Given the description of an element on the screen output the (x, y) to click on. 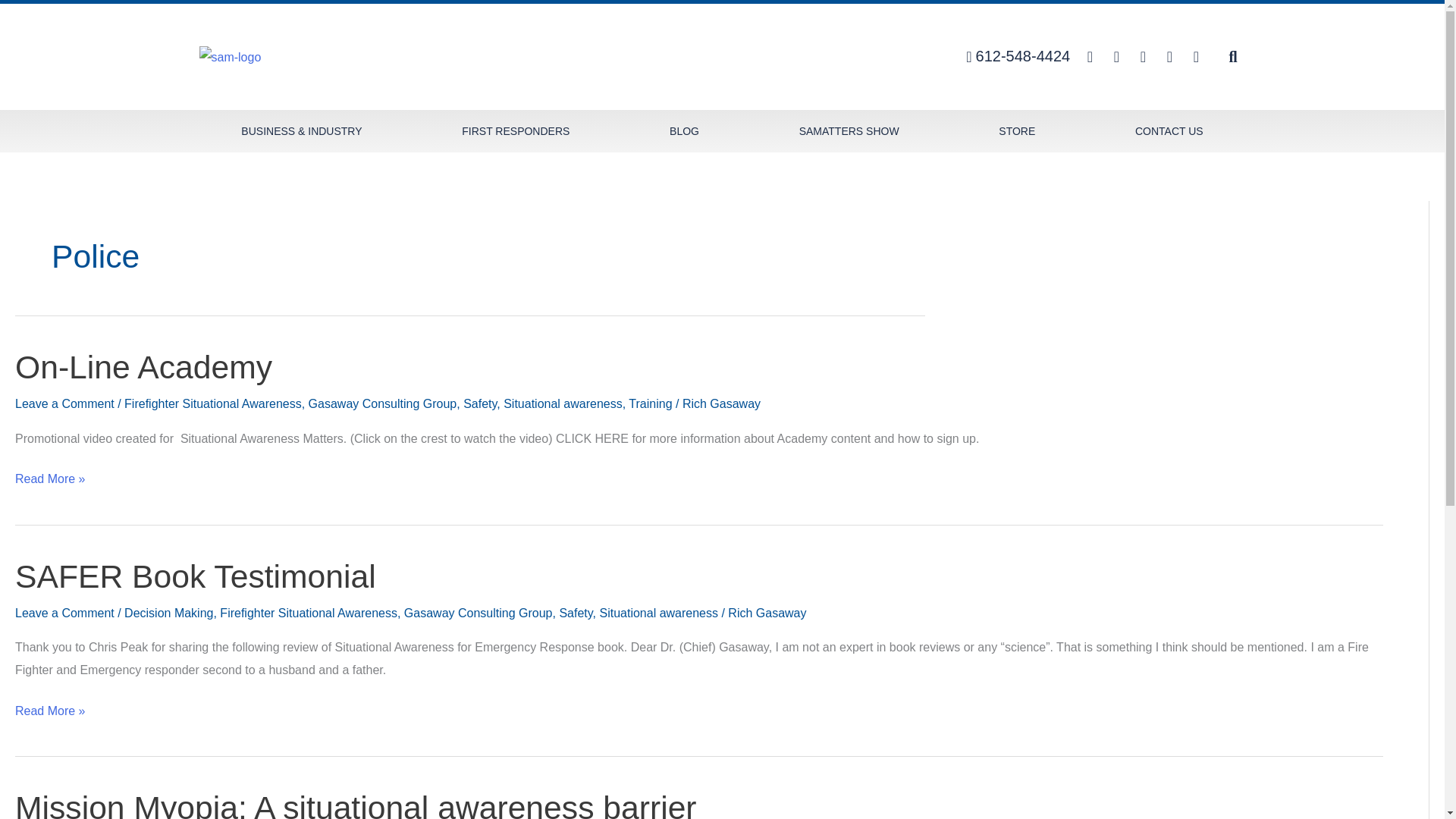
sam-logo (229, 56)
Leave a Comment (64, 612)
Gasaway Consulting Group (478, 612)
SAFER Book Testimonial (194, 575)
Gasaway Consulting Group (382, 403)
On-Line Academy (143, 366)
Firefighter Situational Awareness (212, 403)
Situational awareness (563, 403)
CONTACT US (1168, 130)
Rich Gasaway (767, 612)
